Given the description of an element on the screen output the (x, y) to click on. 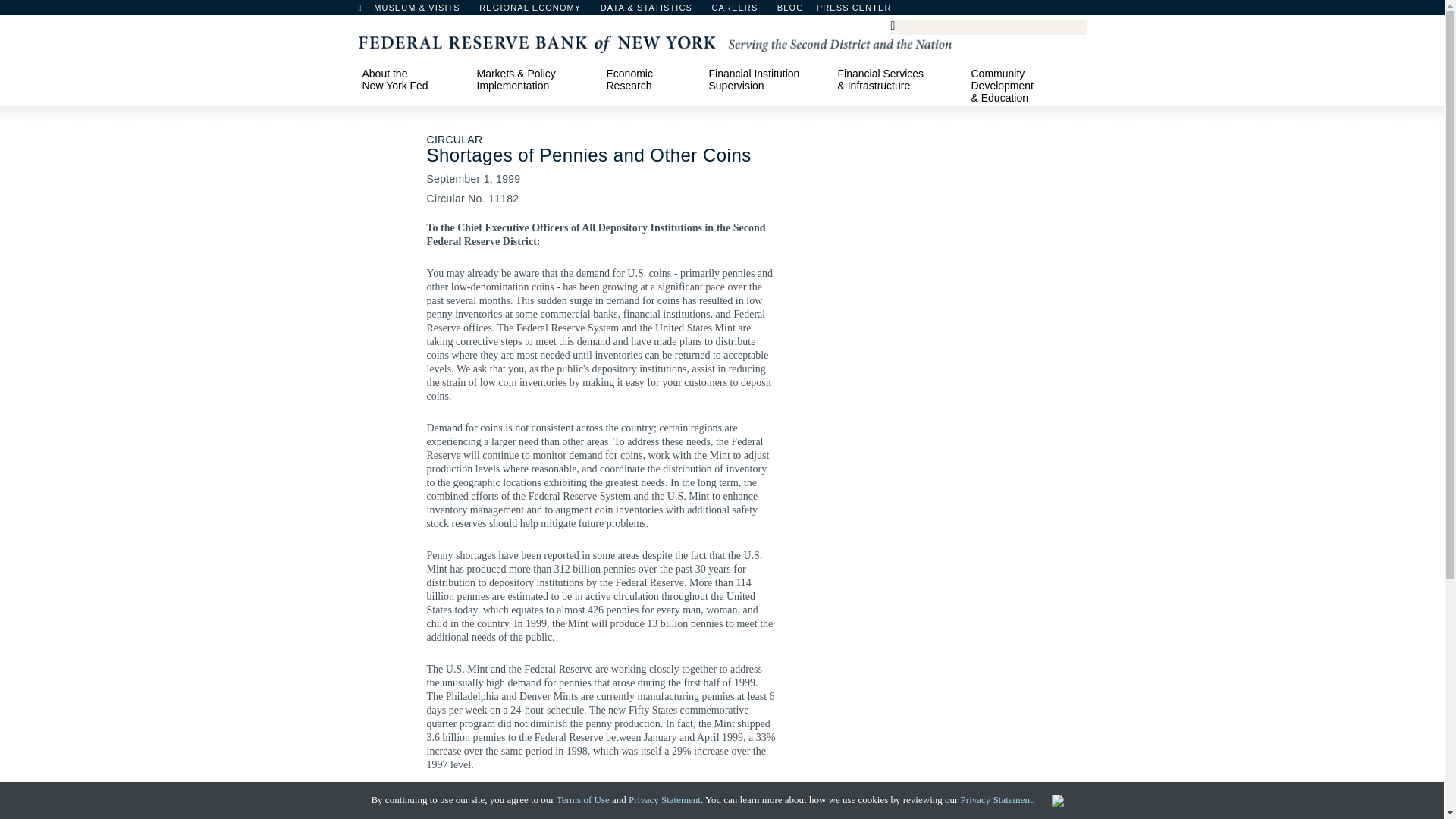
REGIONAL ECONOMY (537, 11)
Search Form (987, 27)
PRESS CENTER (861, 11)
Search Box (985, 26)
Federal Reserve Bank of New York (654, 42)
Regional Economy (537, 11)
CAREERS (742, 11)
About the New York Fed (411, 79)
Liberty Street Economics Blog (830, 11)
About the New York Fed (411, 79)
